Given the description of an element on the screen output the (x, y) to click on. 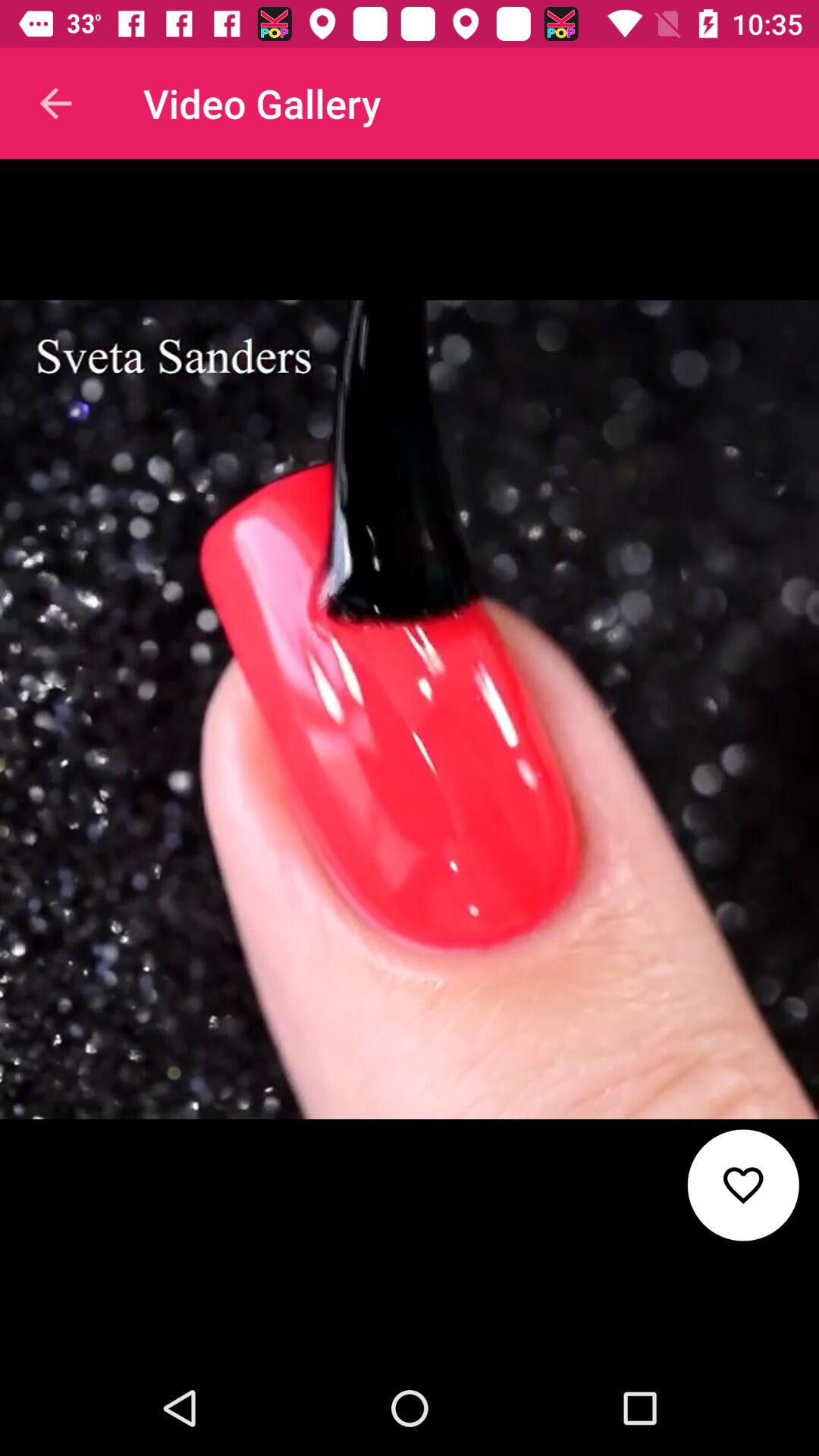
favourite (743, 1185)
